Given the description of an element on the screen output the (x, y) to click on. 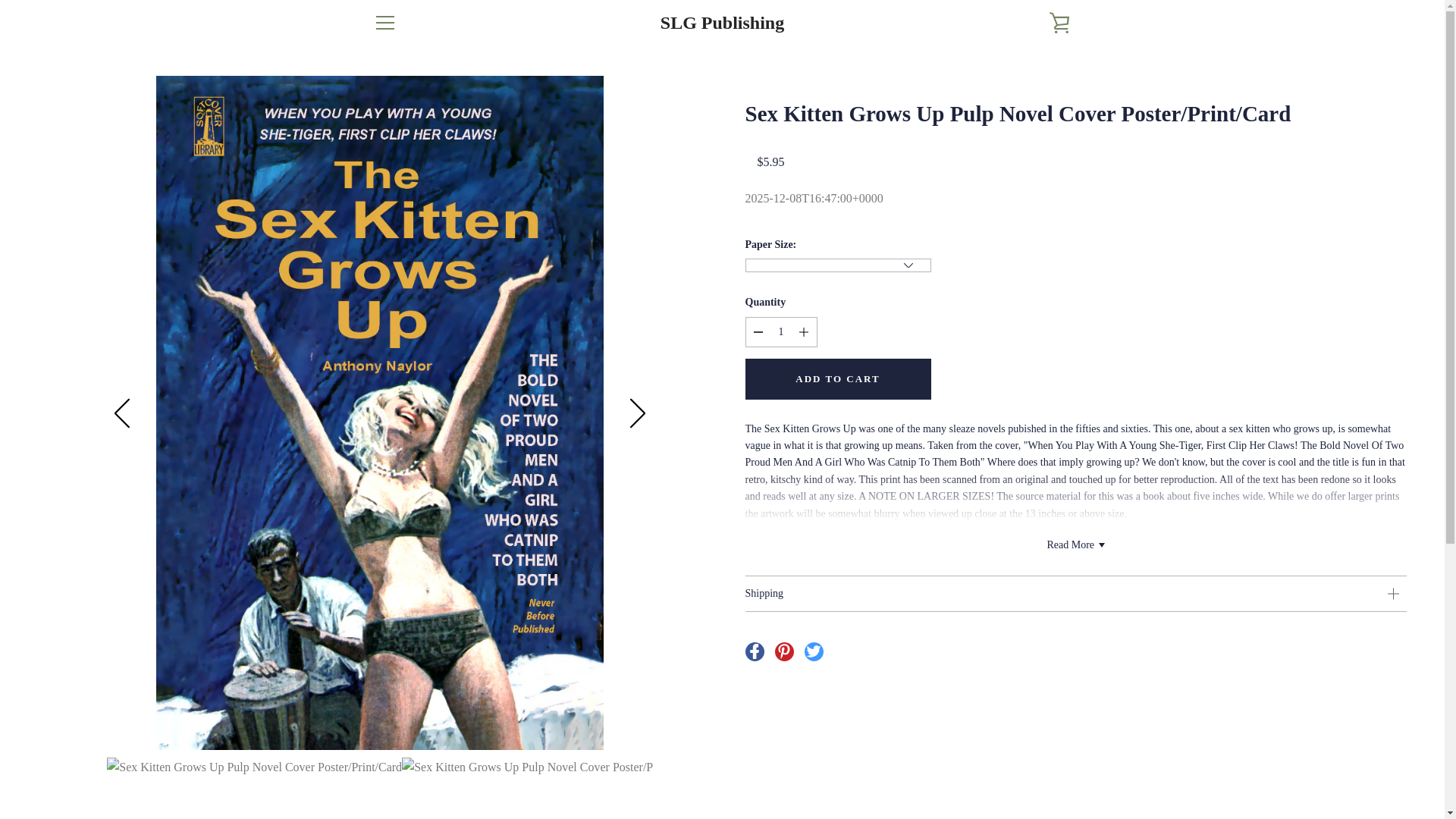
SLG Publishing (722, 23)
1 (780, 331)
Shipping (1075, 593)
MENU (384, 22)
VIEW CART (1059, 22)
ADD TO CART (837, 378)
